Given the description of an element on the screen output the (x, y) to click on. 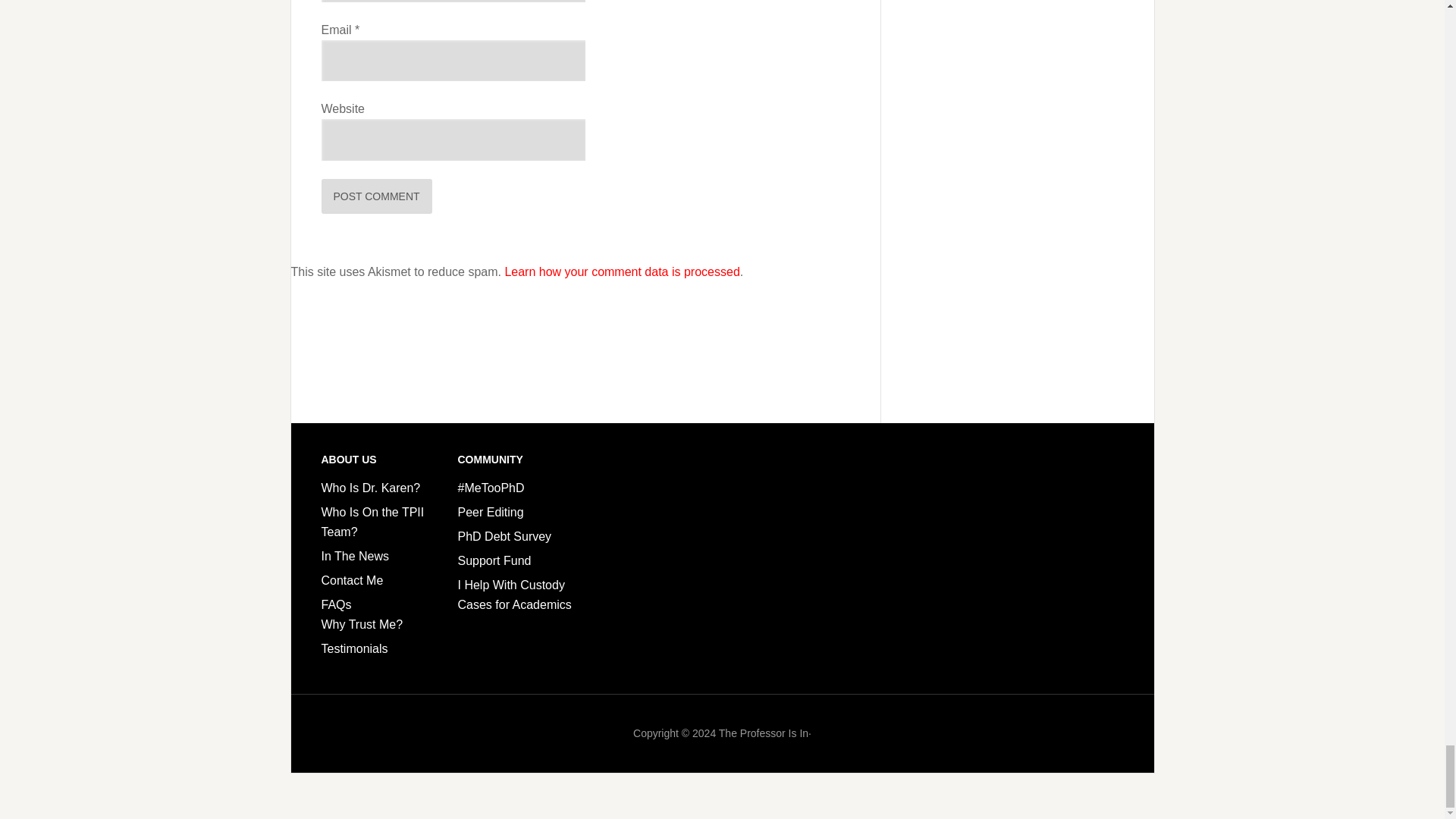
Post Comment (376, 196)
